Given the description of an element on the screen output the (x, y) to click on. 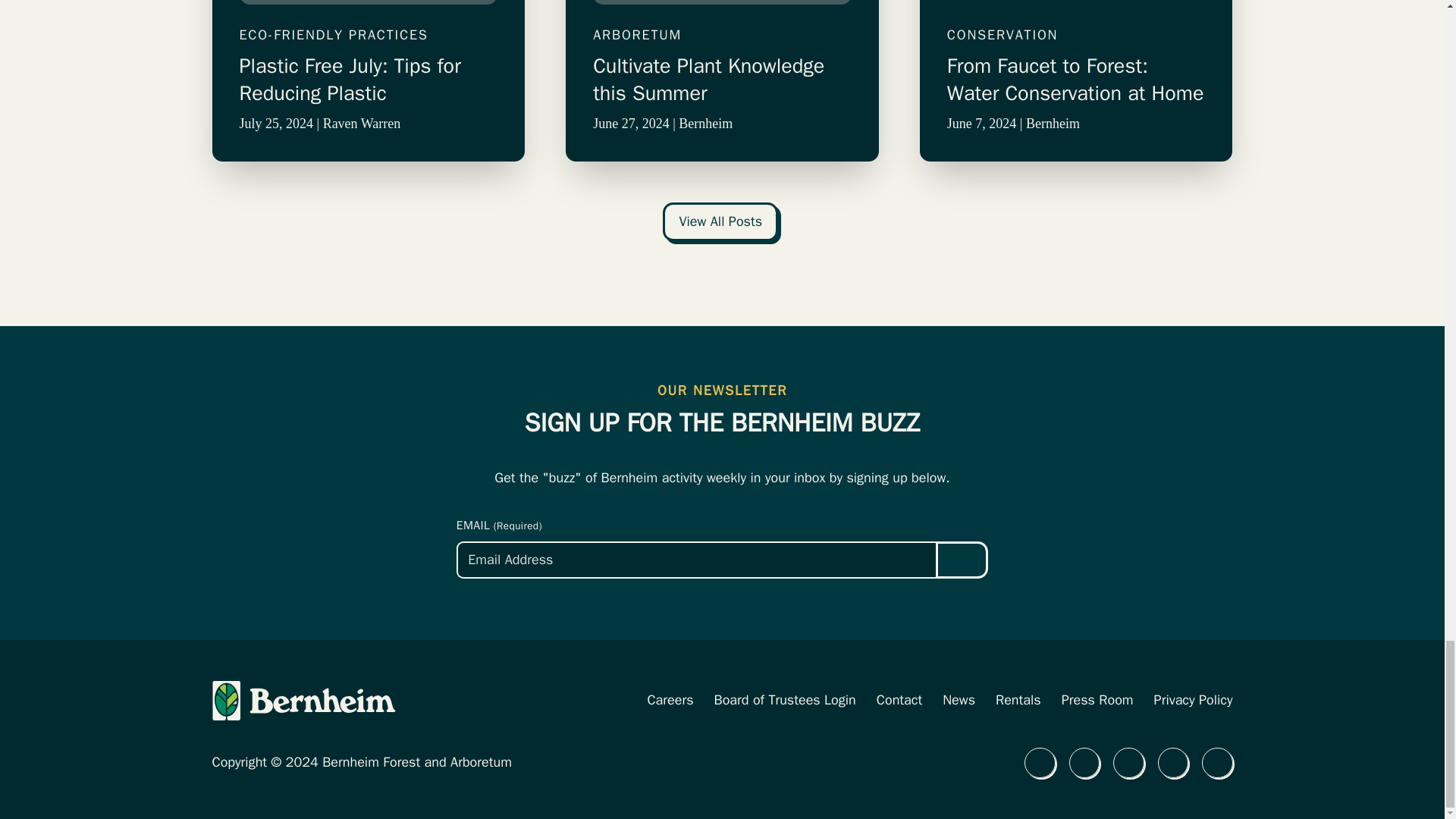
From Faucet to Forest: Water Conservation at Home (1076, 79)
ARBORETUM (721, 35)
ECO-FRIENDLY PRACTICES (368, 35)
Raven Warren (362, 123)
Cultivate Plant Knowledge this Summer (721, 79)
Bernheim (705, 123)
Bernheim (1053, 123)
View All Posts (719, 221)
CONSERVATION (1076, 35)
Plastic Free July: Tips for Reducing Plastic (368, 79)
